Given the description of an element on the screen output the (x, y) to click on. 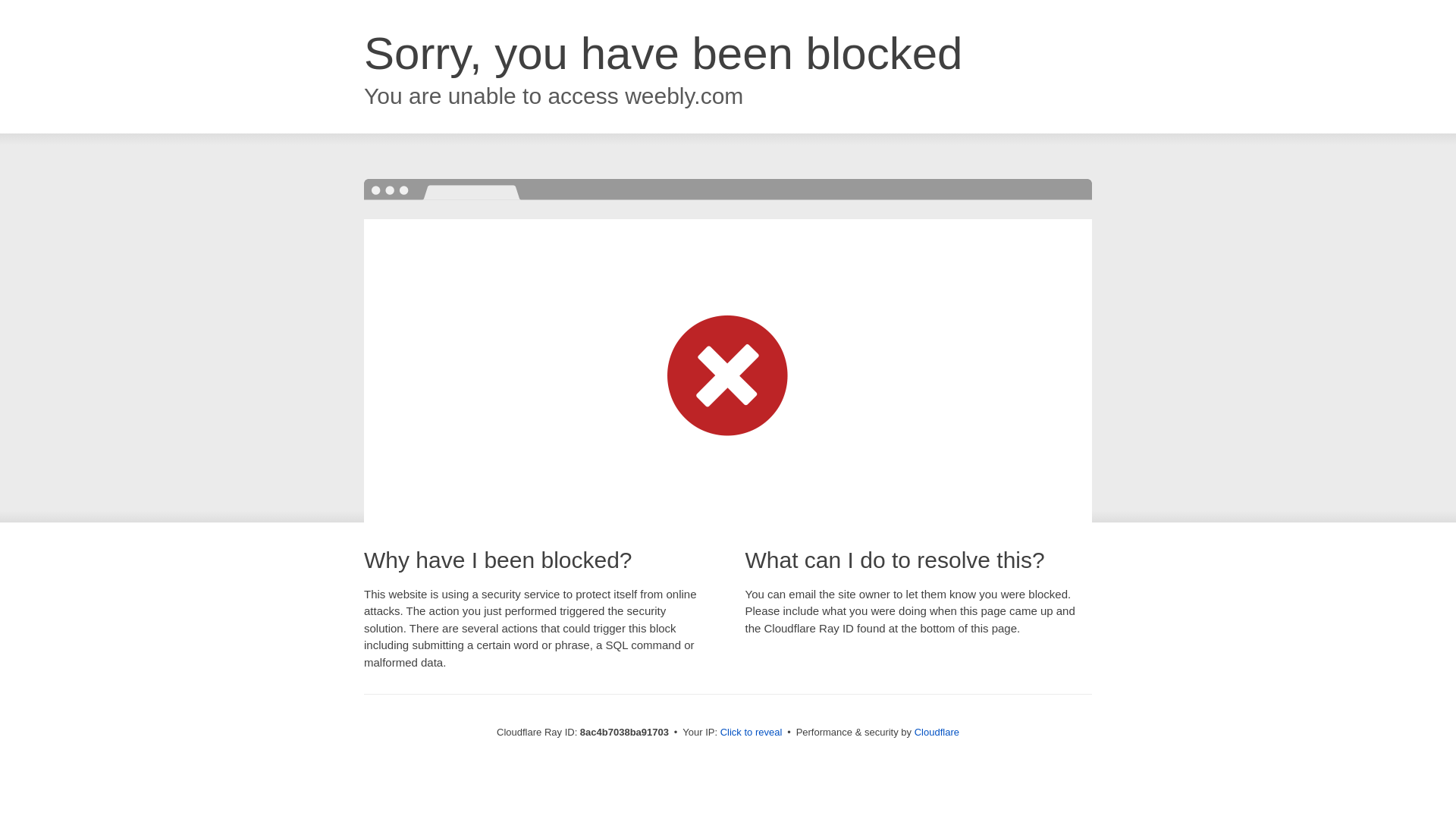
Click to reveal (751, 732)
Cloudflare (936, 731)
